Given the description of an element on the screen output the (x, y) to click on. 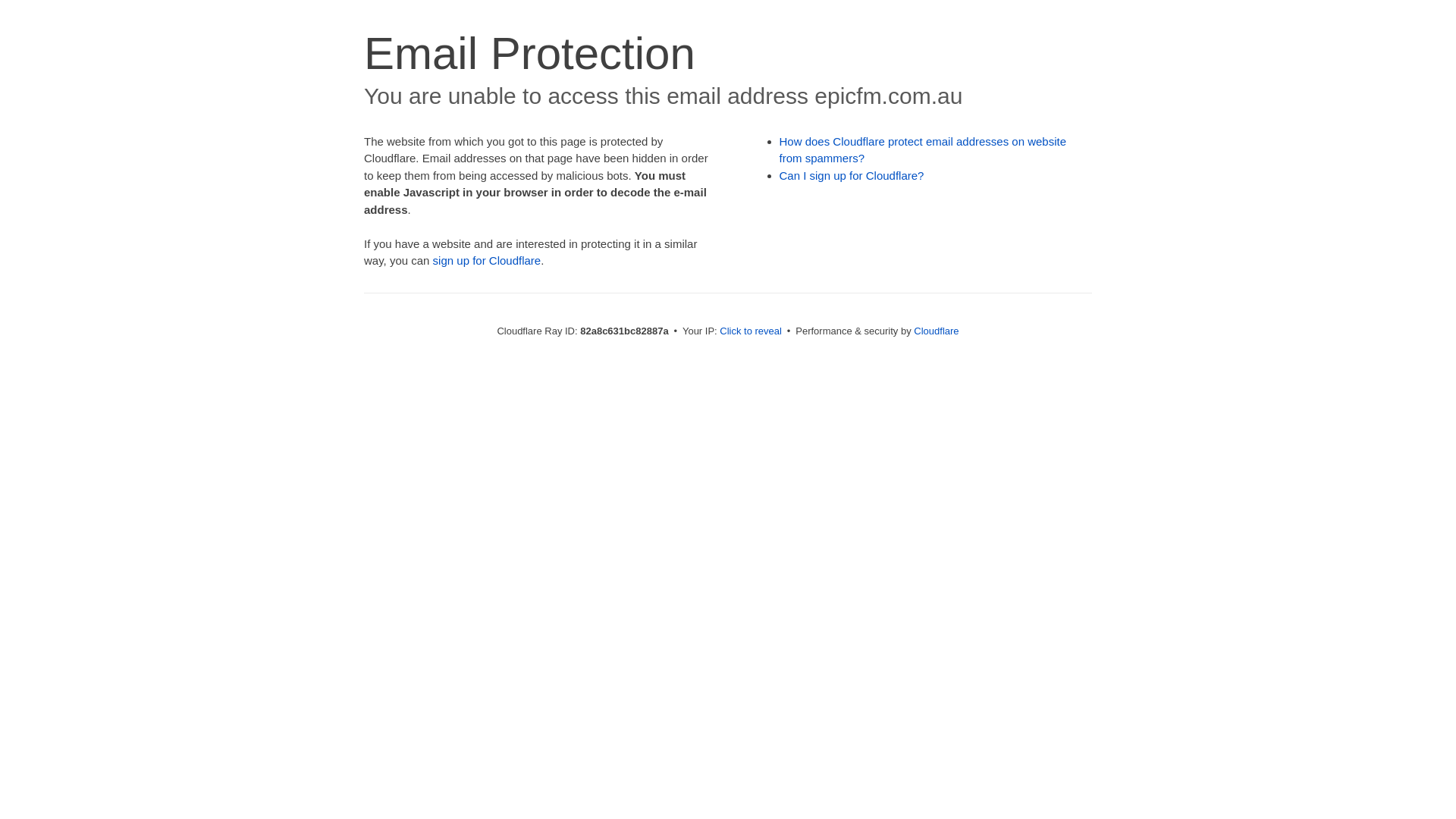
Click to reveal Element type: text (750, 330)
Can I sign up for Cloudflare? Element type: text (851, 175)
sign up for Cloudflare Element type: text (487, 260)
Cloudflare Element type: text (935, 330)
